Given the description of an element on the screen output the (x, y) to click on. 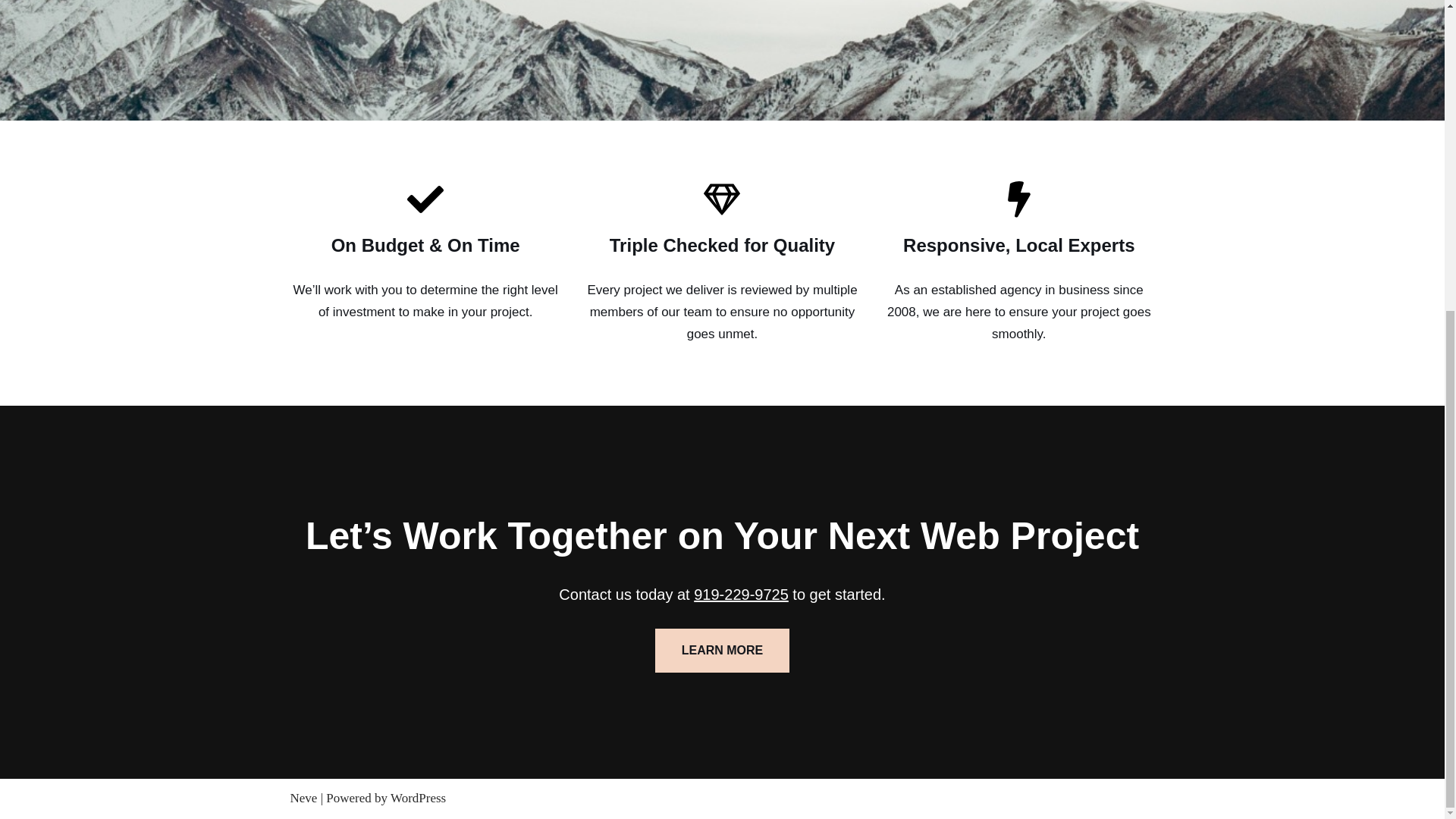
LEARN MORE (722, 650)
919-229-9725 (741, 594)
WordPress (417, 798)
Neve (303, 798)
